Given the description of an element on the screen output the (x, y) to click on. 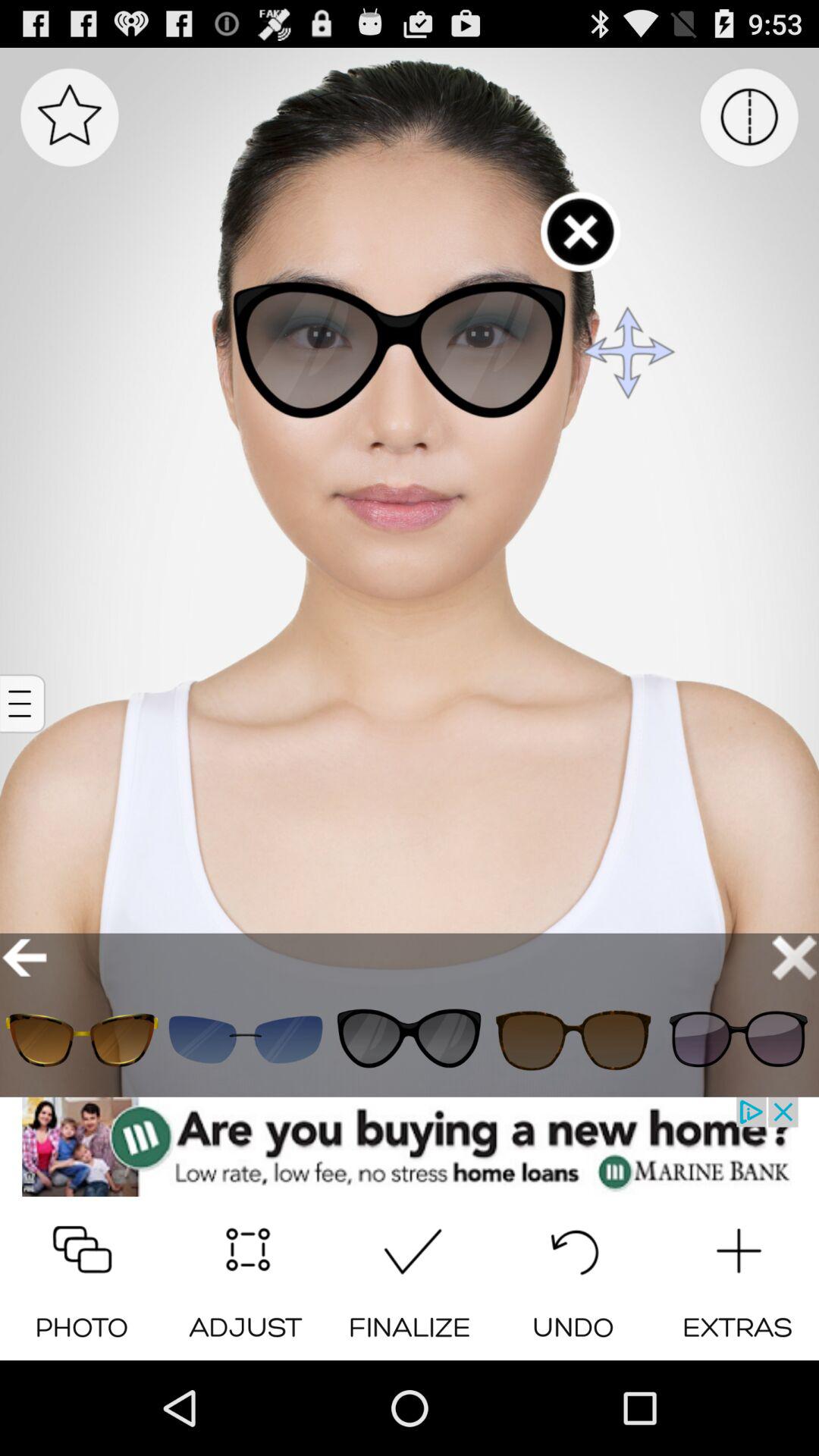
glass edit (737, 1039)
